Given the description of an element on the screen output the (x, y) to click on. 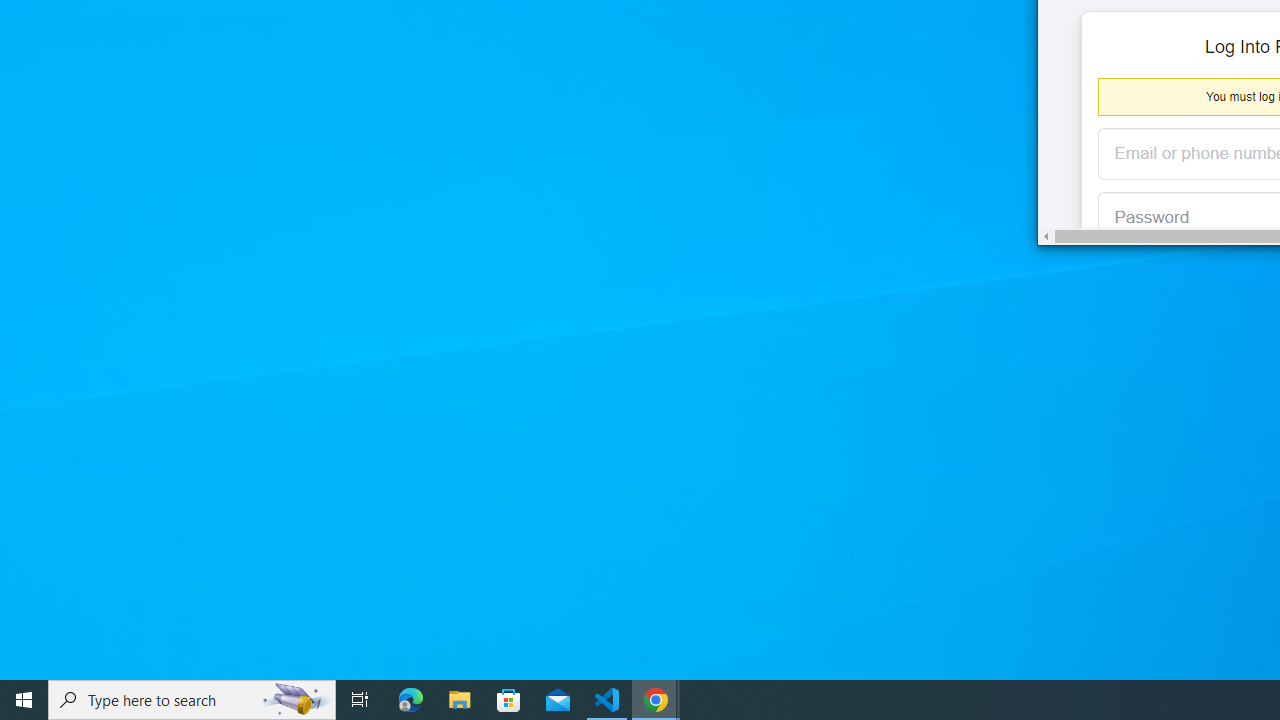
Type here to search (191, 699)
File Explorer (460, 699)
Microsoft Edge (411, 699)
Google Chrome - 3 running windows (656, 699)
Start (24, 699)
Visual Studio Code - 1 running window (607, 699)
Microsoft Store (509, 699)
Search highlights icon opens search home window (295, 699)
Task View (359, 699)
